Given the description of an element on the screen output the (x, y) to click on. 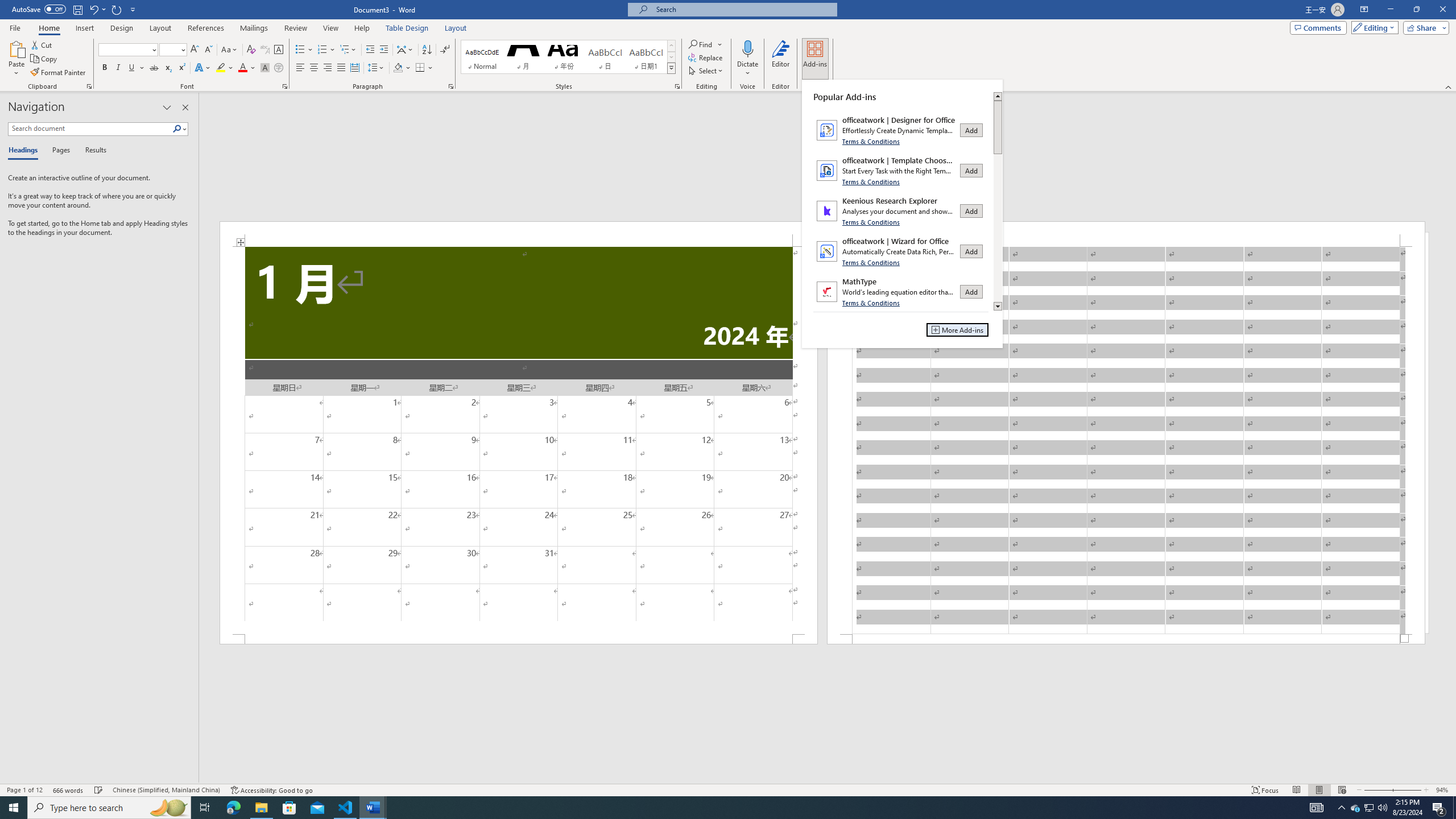
Page Number Page 1 of 12 (24, 790)
